Given the description of an element on the screen output the (x, y) to click on. 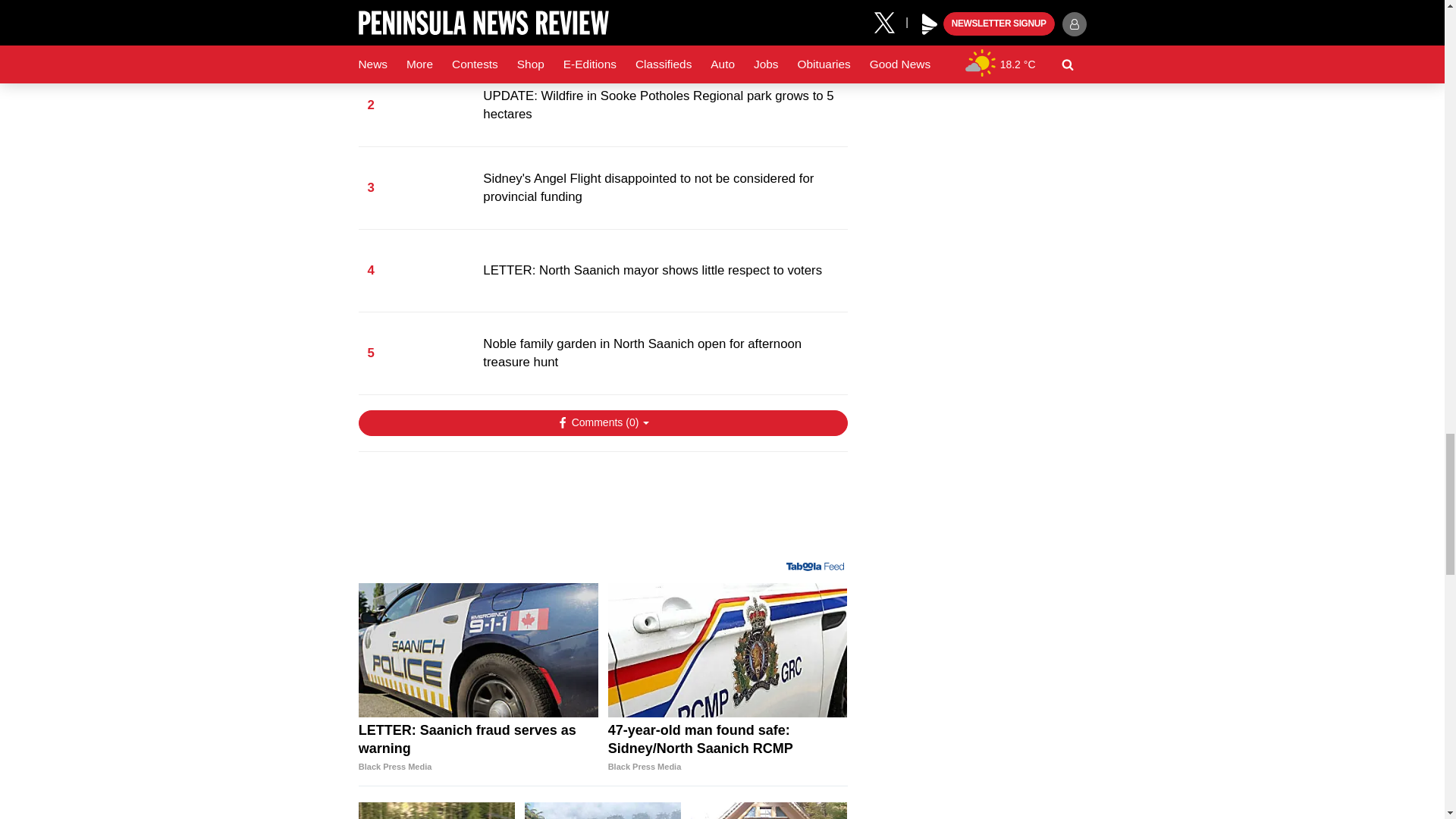
Show Comments (602, 422)
